Given the description of an element on the screen output the (x, y) to click on. 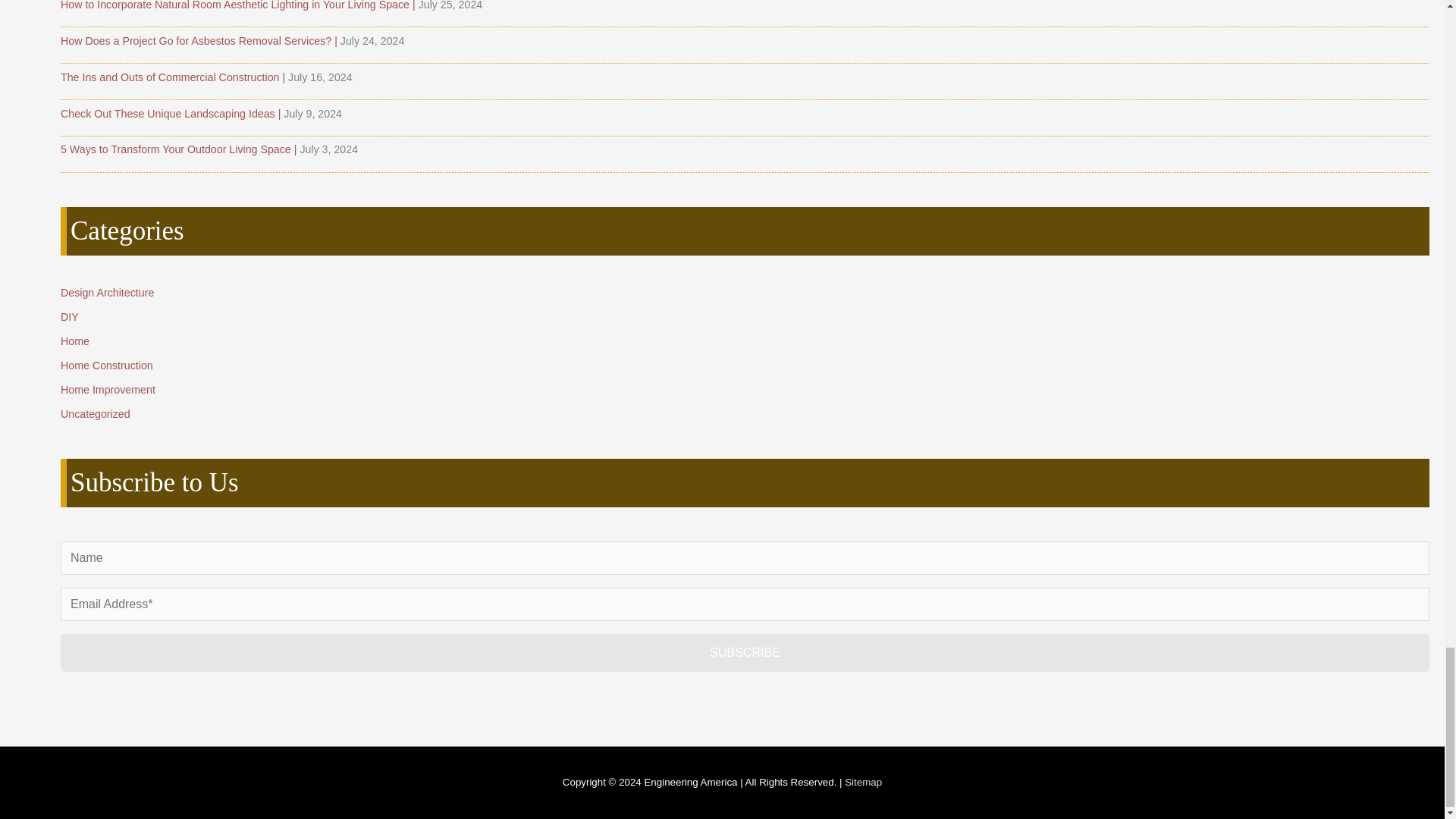
DIY (69, 316)
Home (74, 340)
Check Out These Unique Landscaping Ideas (172, 113)
How Does a Project Go for Asbestos Removal Services? (200, 40)
Subscribe (745, 652)
The Ins and Outs of Commercial Construction (174, 77)
Design Architecture (107, 292)
5 Ways to Transform Your Outdoor Living Space (180, 149)
